Given the description of an element on the screen output the (x, y) to click on. 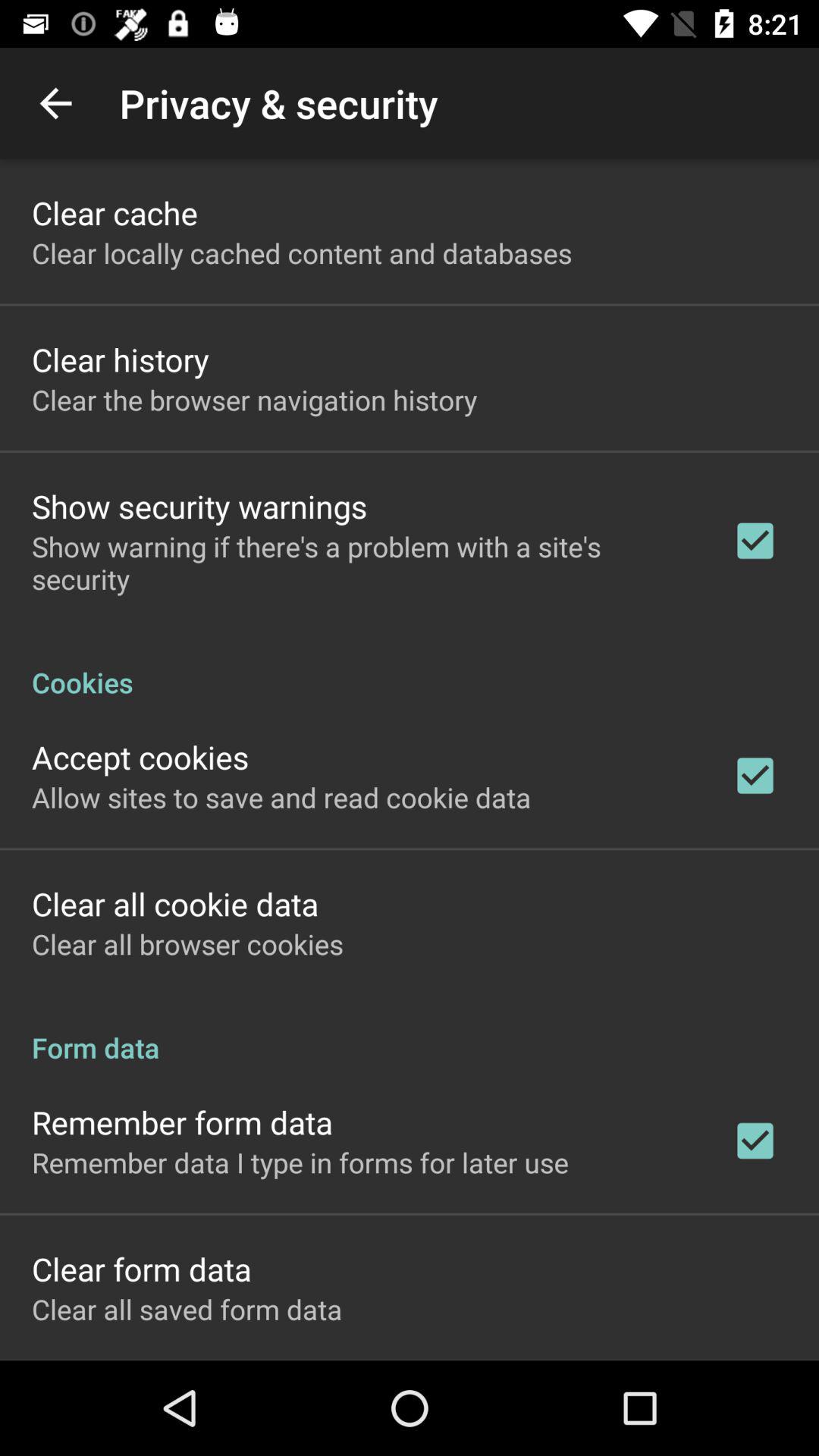
turn on the item above clear locally cached icon (114, 212)
